Given the description of an element on the screen output the (x, y) to click on. 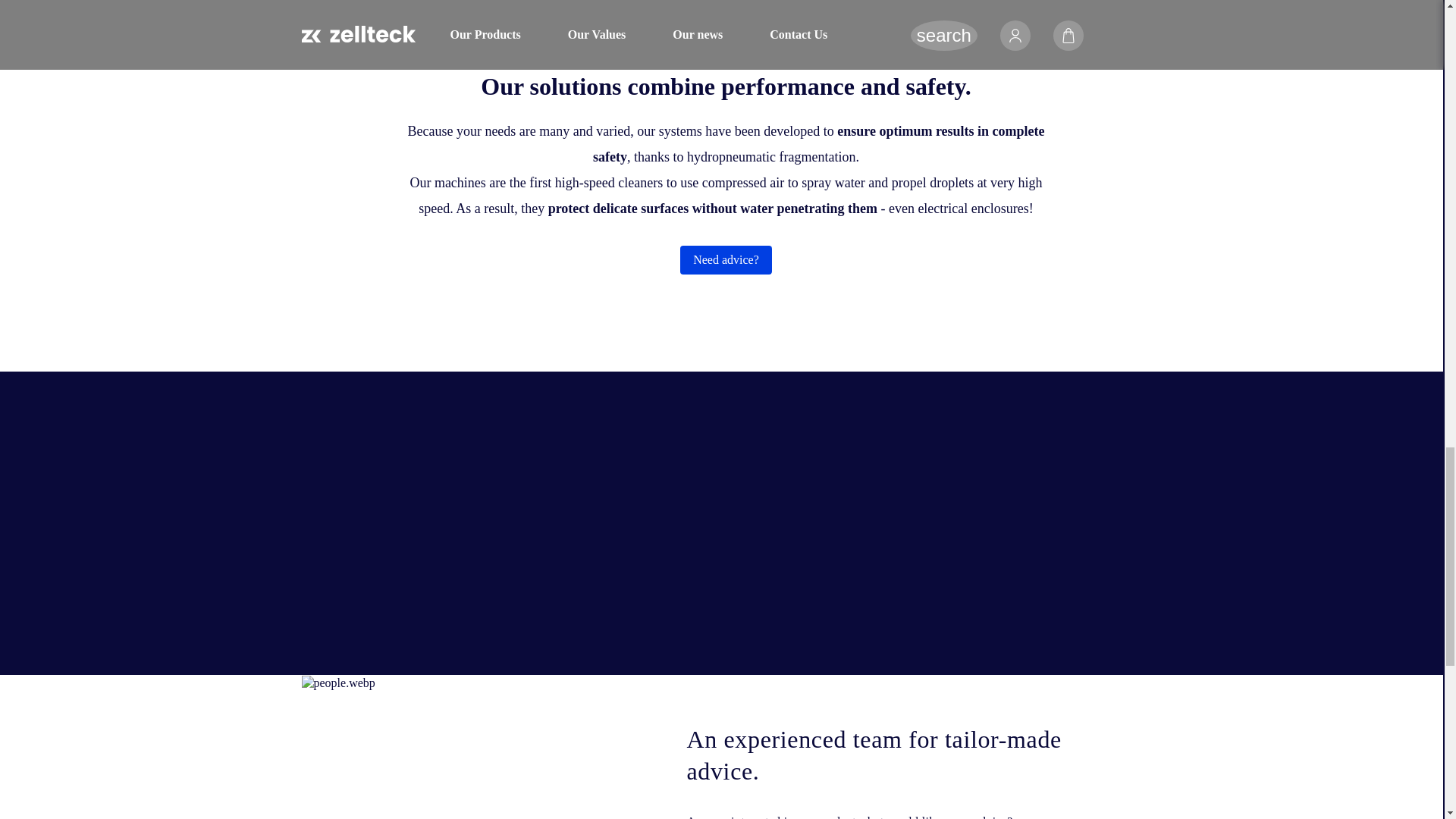
Need advice? (725, 259)
